Given the description of an element on the screen output the (x, y) to click on. 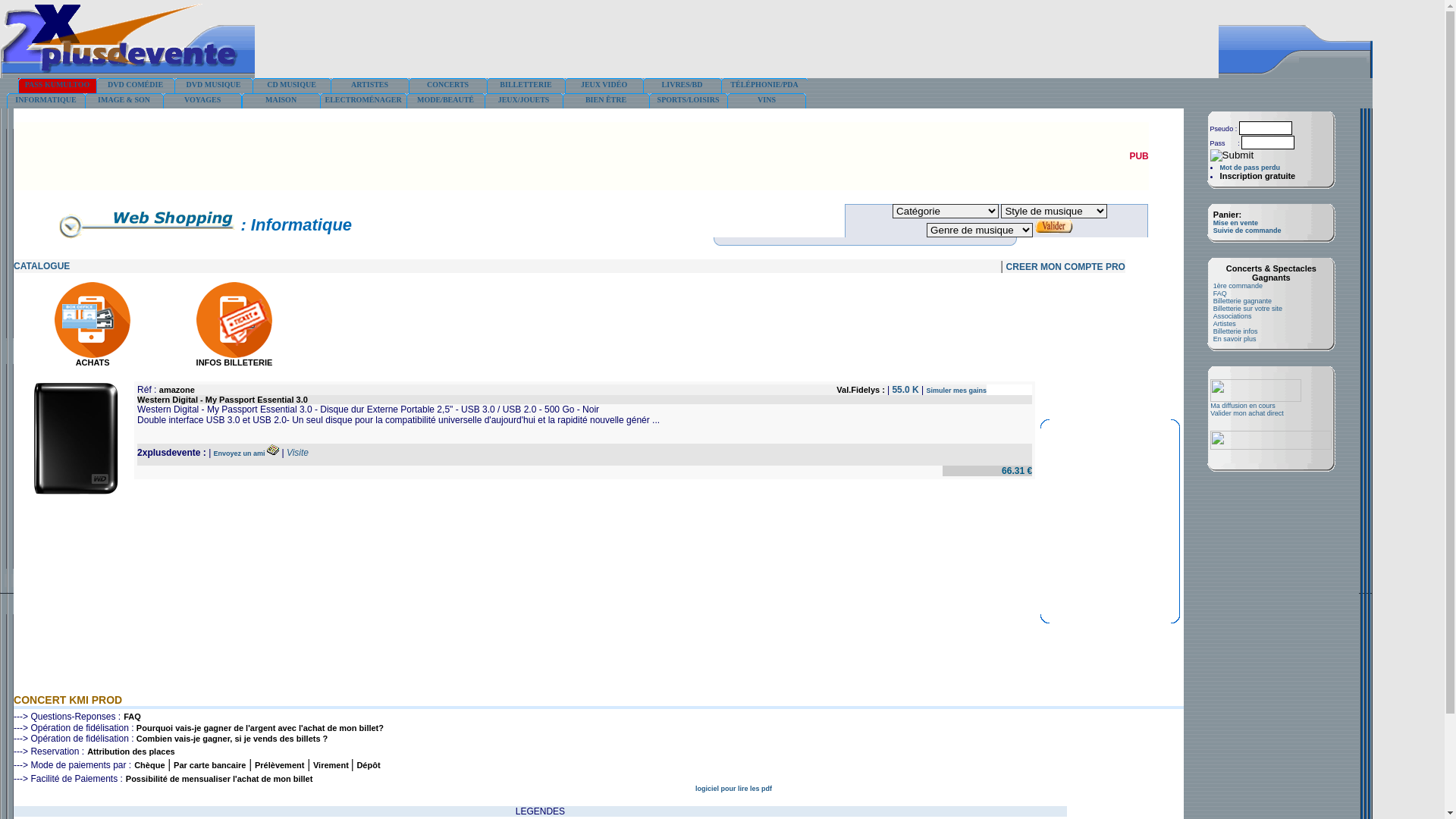
Billetterie gagnante Element type: text (1242, 300)
Artistes Element type: text (1224, 323)
CREER MON COMPTE PRO Element type: text (1065, 266)
MAISON Element type: text (280, 100)
Virement Element type: text (332, 764)
Western Digital - My Passport Essential 3.0 Element type: text (222, 399)
SPORTS/LOISIRS Element type: text (688, 100)
logiciel pour lire les pdf Element type: text (733, 788)
En savoir plus Element type: text (1234, 338)
Attribution des places Element type: text (131, 751)
INFORMATIQUE Element type: text (45, 100)
DVD MUSIQUE Element type: text (213, 85)
Val.Fidelys : Element type: text (861, 389)
amazone Element type: text (176, 389)
Mise en vente Element type: text (1235, 222)
IMAGE & SON Element type: text (123, 100)
Associations Element type: text (1232, 316)
CD MUSIQUE Element type: text (291, 85)
55.0 K Element type: text (906, 389)
FAQ Element type: text (132, 716)
JEUX/JOUETS Element type: text (523, 100)
Billetterie sur votre site Element type: text (1247, 308)
Mot de pass perdu Element type: text (1250, 167)
BILLETTERIE Element type: text (525, 85)
Suivie de commande Element type: text (1247, 230)
CATALOGUE Element type: text (41, 265)
PASS KUMULTOO Element type: text (57, 85)
Visite Element type: text (297, 452)
INFOS BILLETERIE Element type: text (234, 358)
LIVRES/BD Element type: text (682, 85)
VOYAGES Element type: text (202, 100)
Simuler mes gains Element type: text (956, 390)
VINS Element type: text (766, 100)
Ma diffusion en cours Element type: text (1242, 405)
Valider mon achat direct Element type: text (1246, 413)
CONCERTS Element type: text (447, 85)
FAQ Element type: text (1219, 293)
ARTISTES Element type: text (369, 85)
Inscription gratuite Element type: text (1257, 175)
Combien vais-je gagner, si je vends des billets ? Element type: text (231, 738)
Billetterie infos Element type: text (1235, 331)
Envoyez un ami Element type: text (240, 453)
ACHATS Element type: text (92, 358)
Par carte bancaire Element type: text (209, 764)
